Given the description of an element on the screen output the (x, y) to click on. 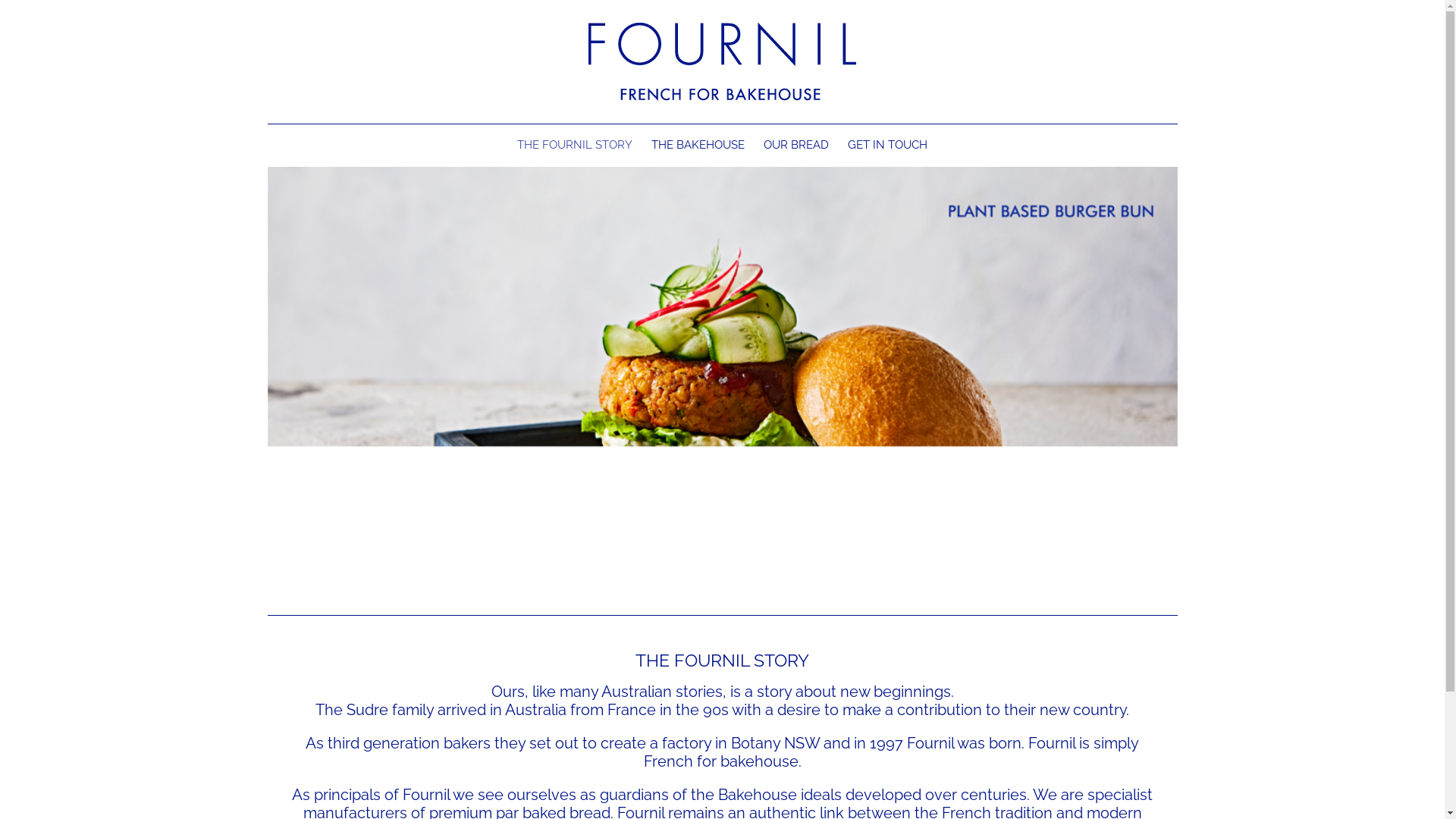
THE FOURNIL STORY Element type: text (574, 145)
OUR BREAD Element type: text (795, 145)
GET IN TOUCH Element type: text (887, 145)
THE BAKEHOUSE Element type: text (697, 145)
